Given the description of an element on the screen output the (x, y) to click on. 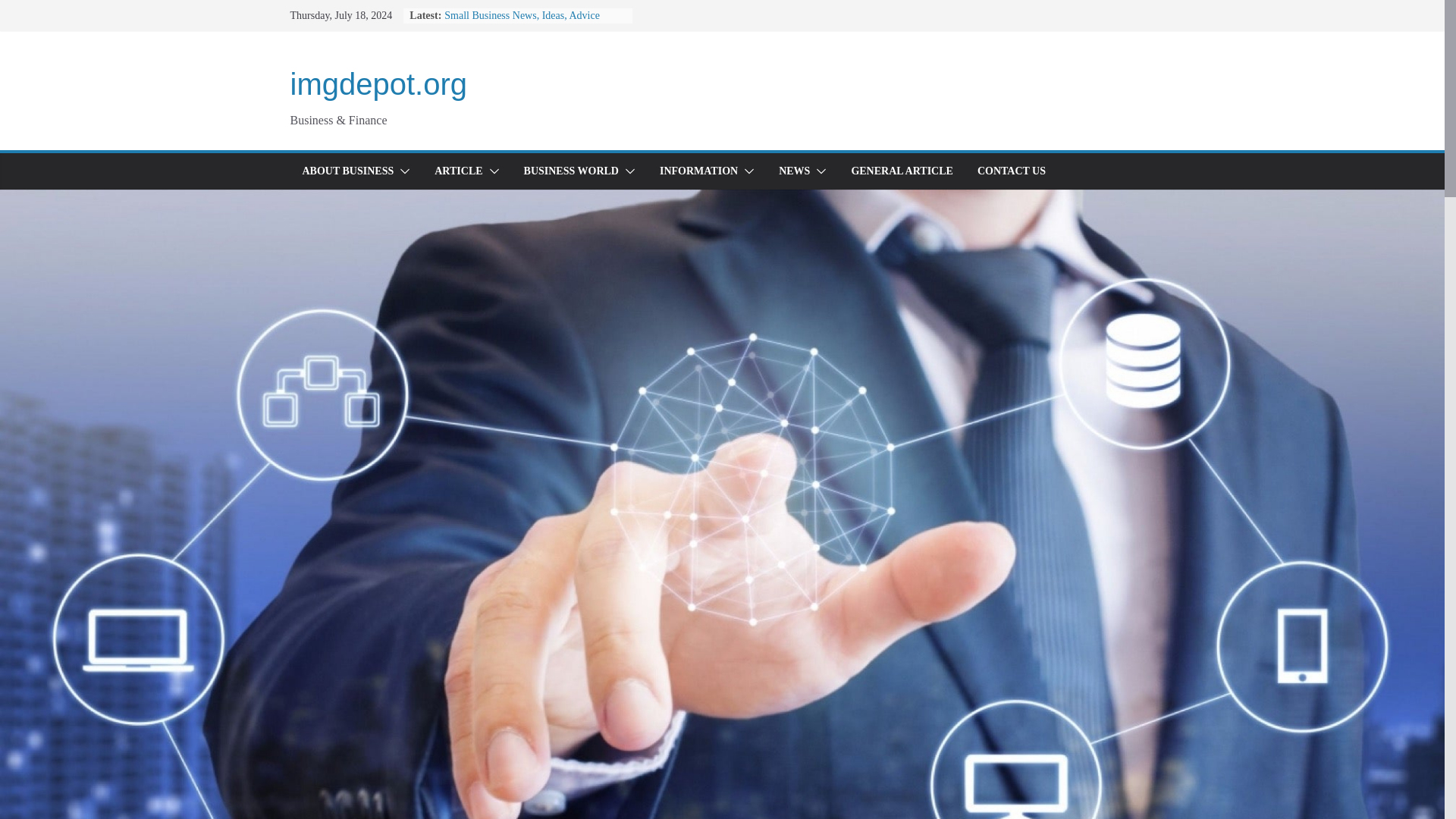
BUSINESS WORLD (571, 170)
INFORMATION (698, 170)
GENERAL ARTICLE (901, 170)
Small Business News, Ideas, Advice (521, 15)
NEWS (793, 170)
imgdepot.org (377, 83)
CONTACT US (1010, 170)
ARTICLE (457, 170)
Small Business News, Ideas, Advice (521, 15)
ABOUT BUSINESS (347, 170)
imgdepot.org (377, 83)
